Given the description of an element on the screen output the (x, y) to click on. 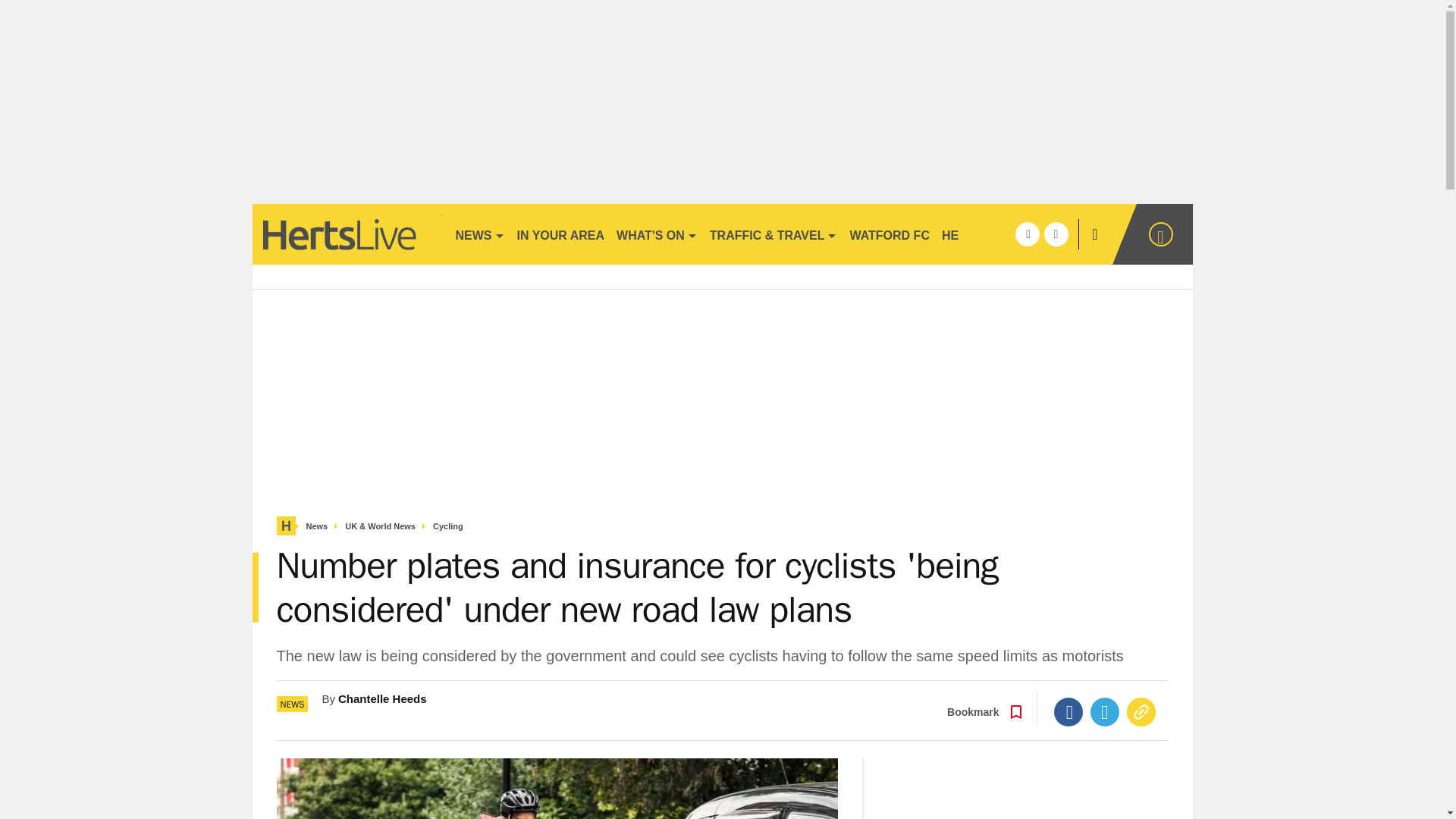
facebook (1026, 233)
twitter (1055, 233)
WATFORD FC (888, 233)
IN YOUR AREA (561, 233)
HEMEL HEMPSTEAD (1003, 233)
Facebook (1068, 711)
Twitter (1104, 711)
NEWS (479, 233)
hertfordshiremercury (346, 233)
WHAT'S ON (656, 233)
